Given the description of an element on the screen output the (x, y) to click on. 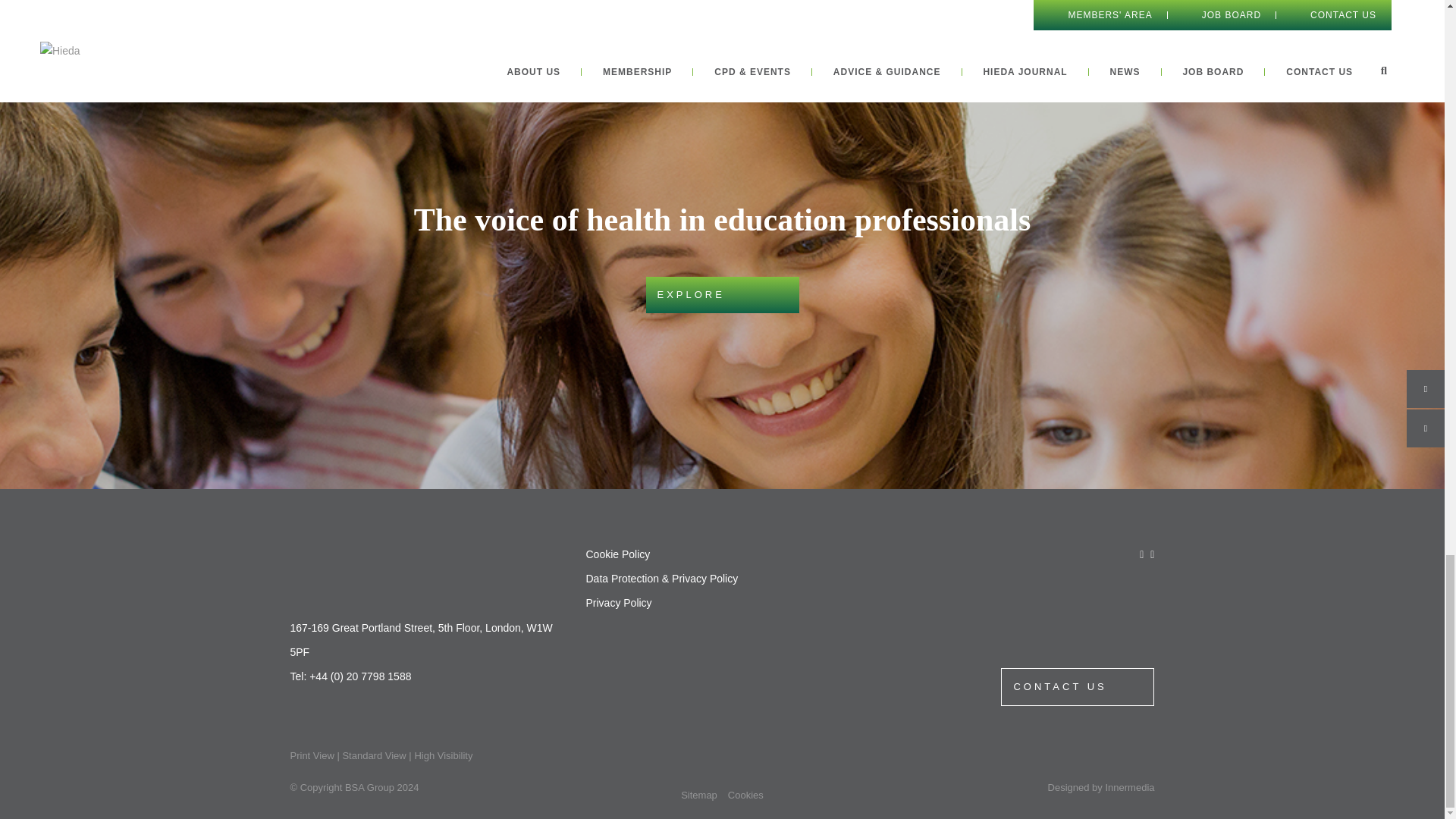
Switch to Standard Visibility (374, 755)
Switch to High Visibility (442, 755)
Switch to Print (311, 755)
